Given the description of an element on the screen output the (x, y) to click on. 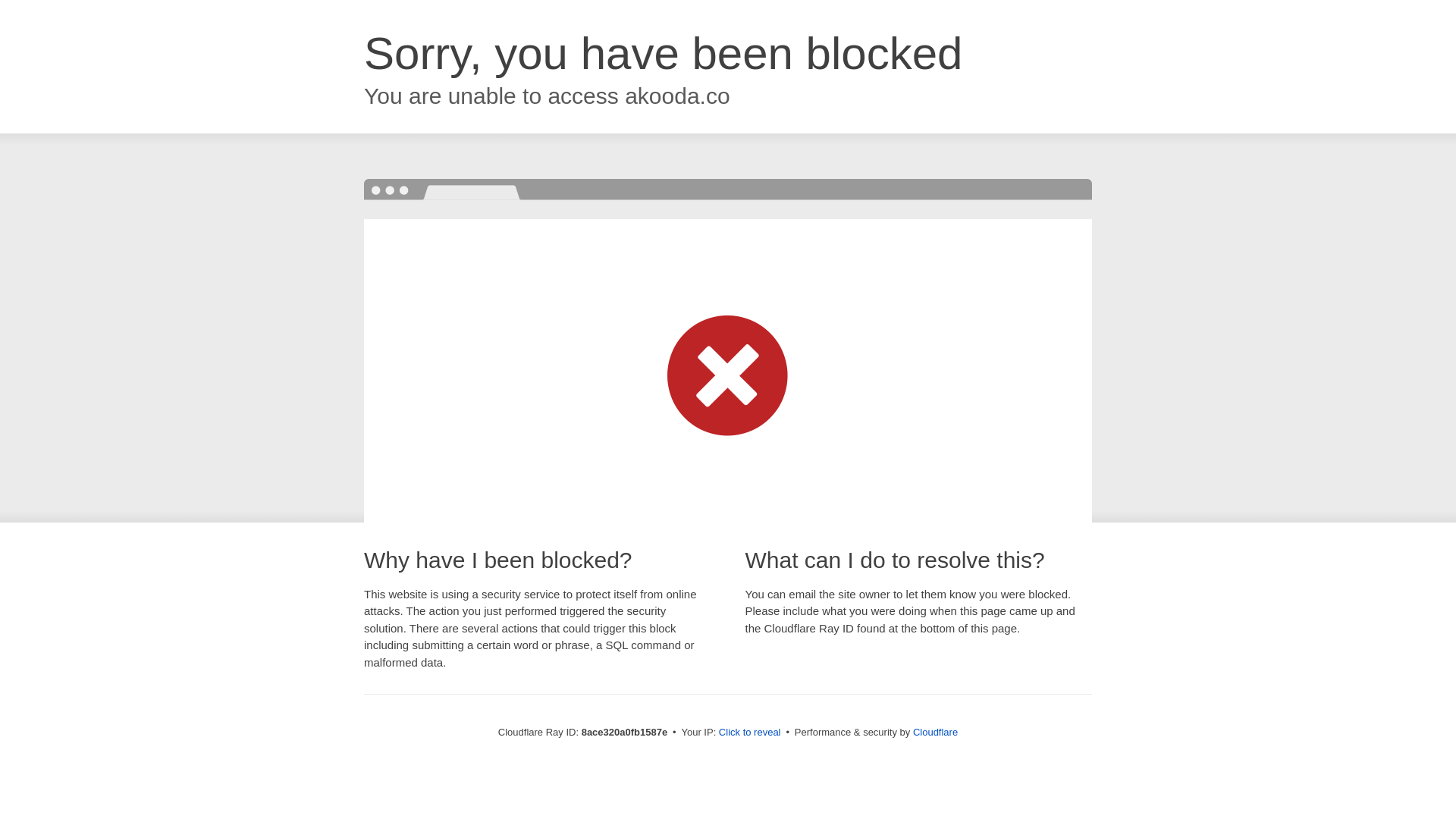
Cloudflare (935, 731)
Click to reveal (749, 732)
